Given the description of an element on the screen output the (x, y) to click on. 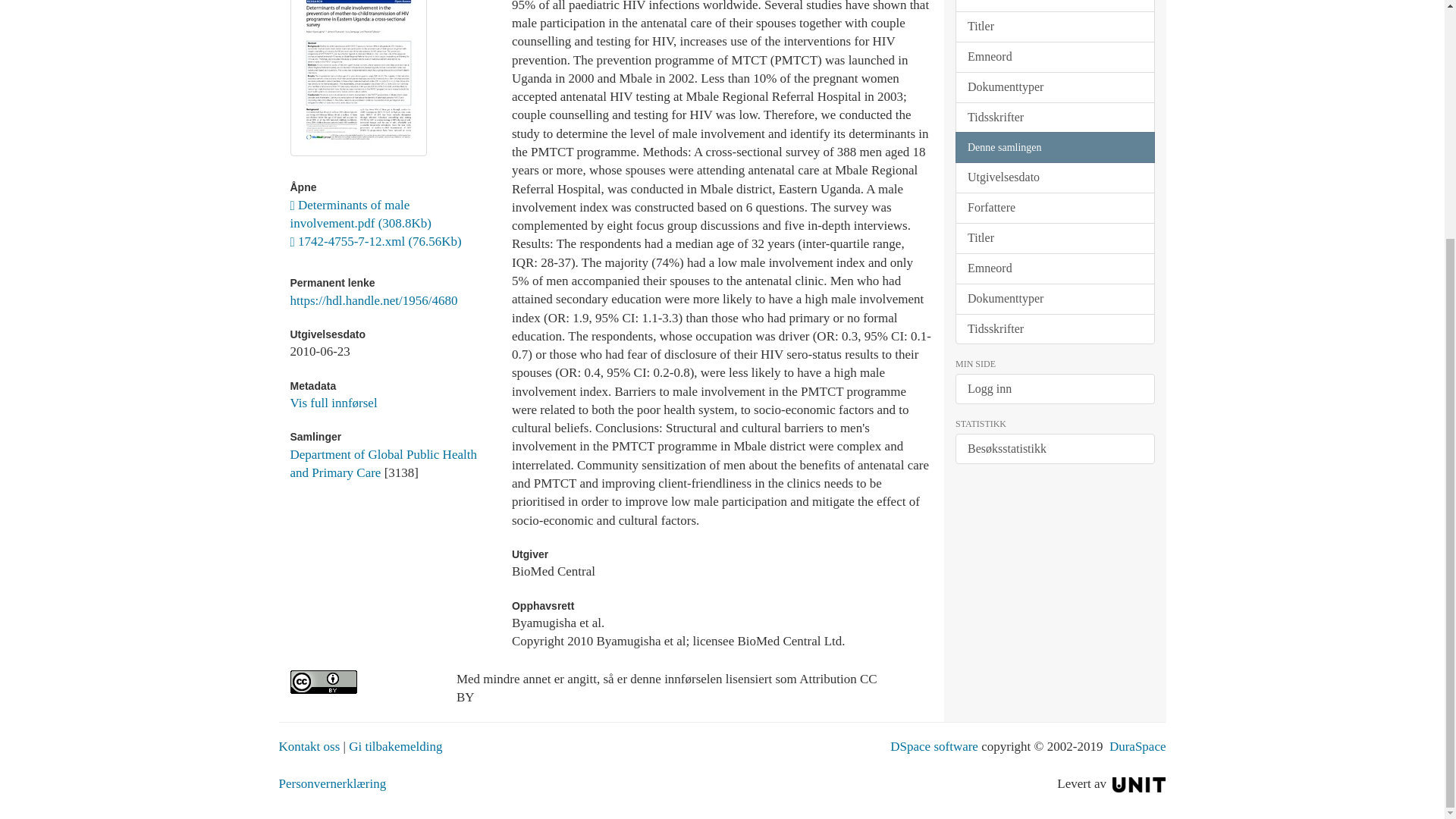
Department of Global Public Health and Primary Care (382, 463)
Attribution CC BY (360, 681)
Unit (1139, 783)
